Given the description of an element on the screen output the (x, y) to click on. 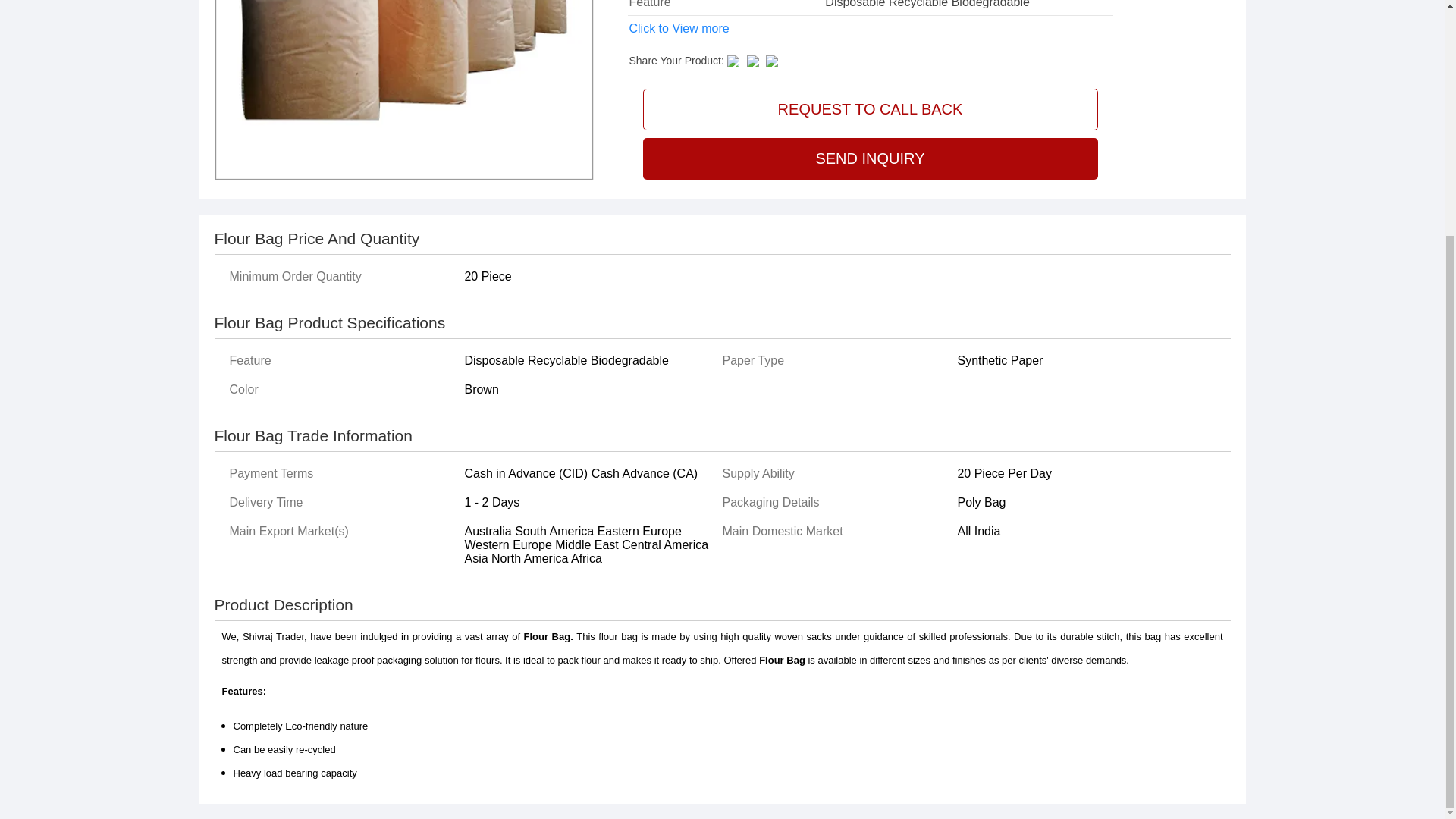
REQUEST TO CALL BACK (870, 109)
SEND INQUIRY (870, 158)
Click to View more (678, 29)
